Given the description of an element on the screen output the (x, y) to click on. 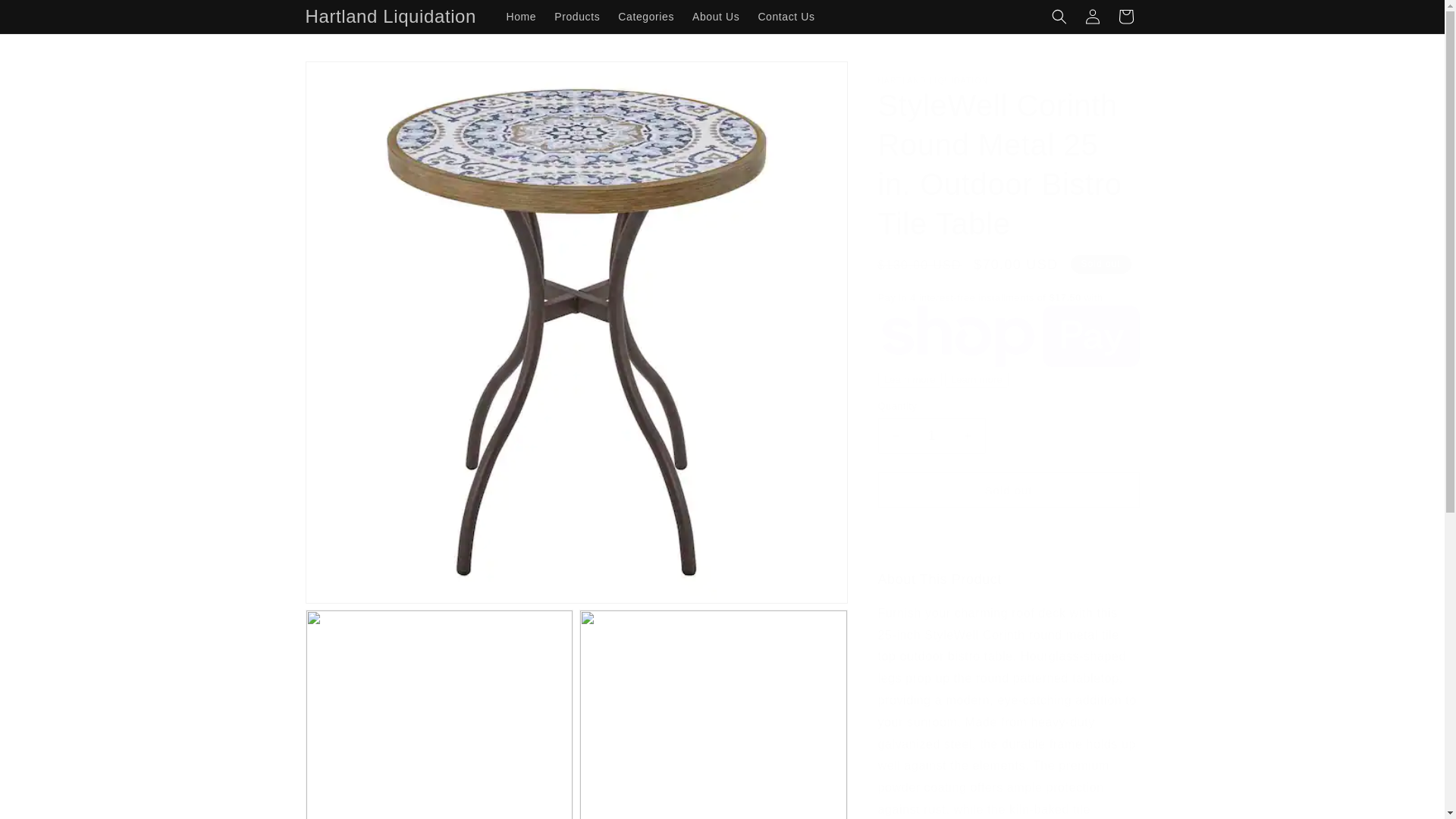
Skip to product information (350, 78)
Cart (1124, 16)
About Us (715, 16)
Log in (1091, 16)
Contact Us (786, 16)
Products (576, 16)
Hartland Liquidation (390, 16)
Skip to content (45, 17)
Sold out (1008, 489)
Open media 3 in modal (713, 714)
1 (931, 435)
Home (520, 16)
